Given the description of an element on the screen output the (x, y) to click on. 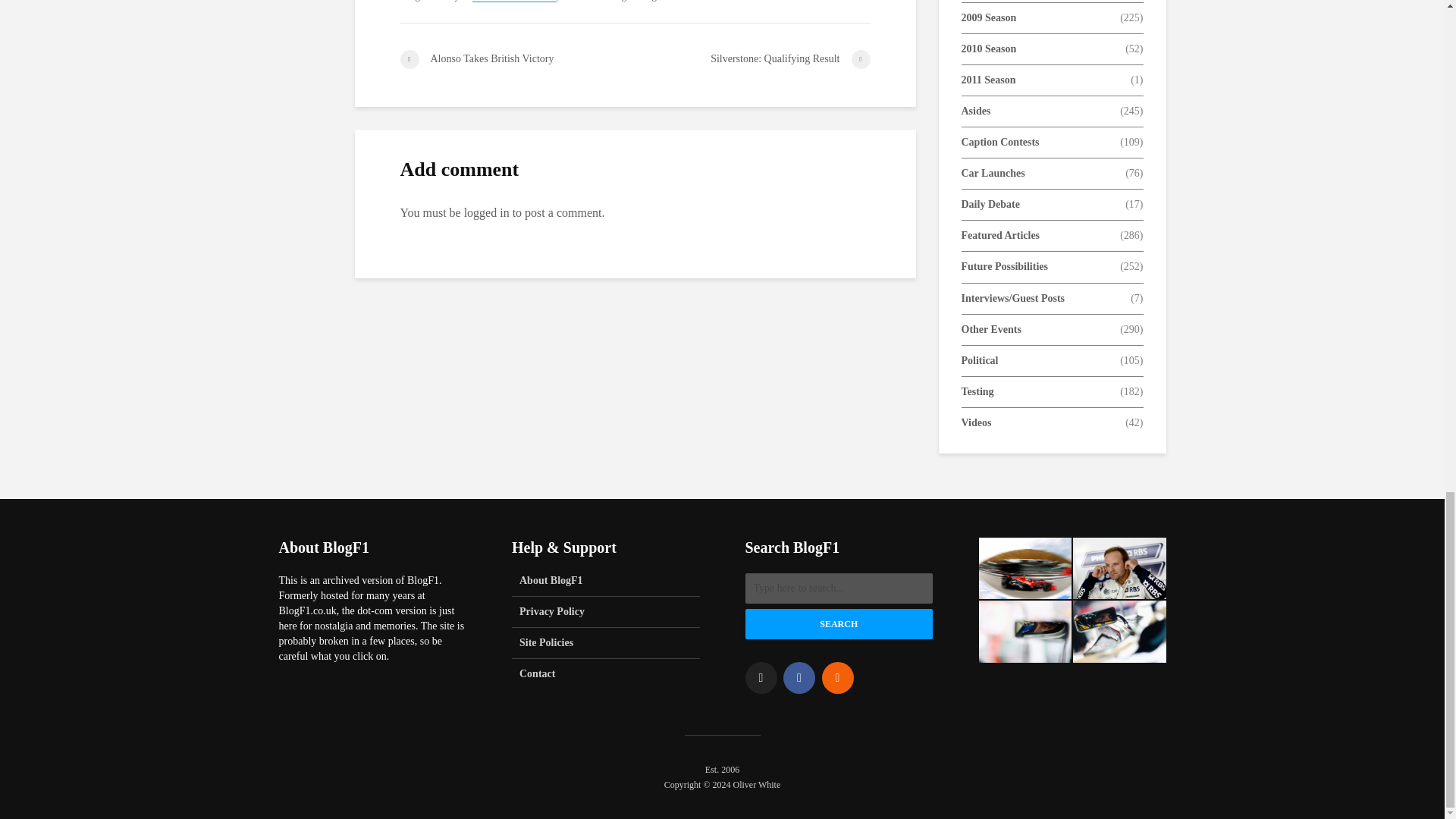
Silverstone: Qualifying Result (752, 58)
logged in (486, 212)
Alonso Takes British Victory (517, 58)
FernandoAlonso.com (513, 1)
Facebook (799, 677)
RSS (837, 677)
